Given the description of an element on the screen output the (x, y) to click on. 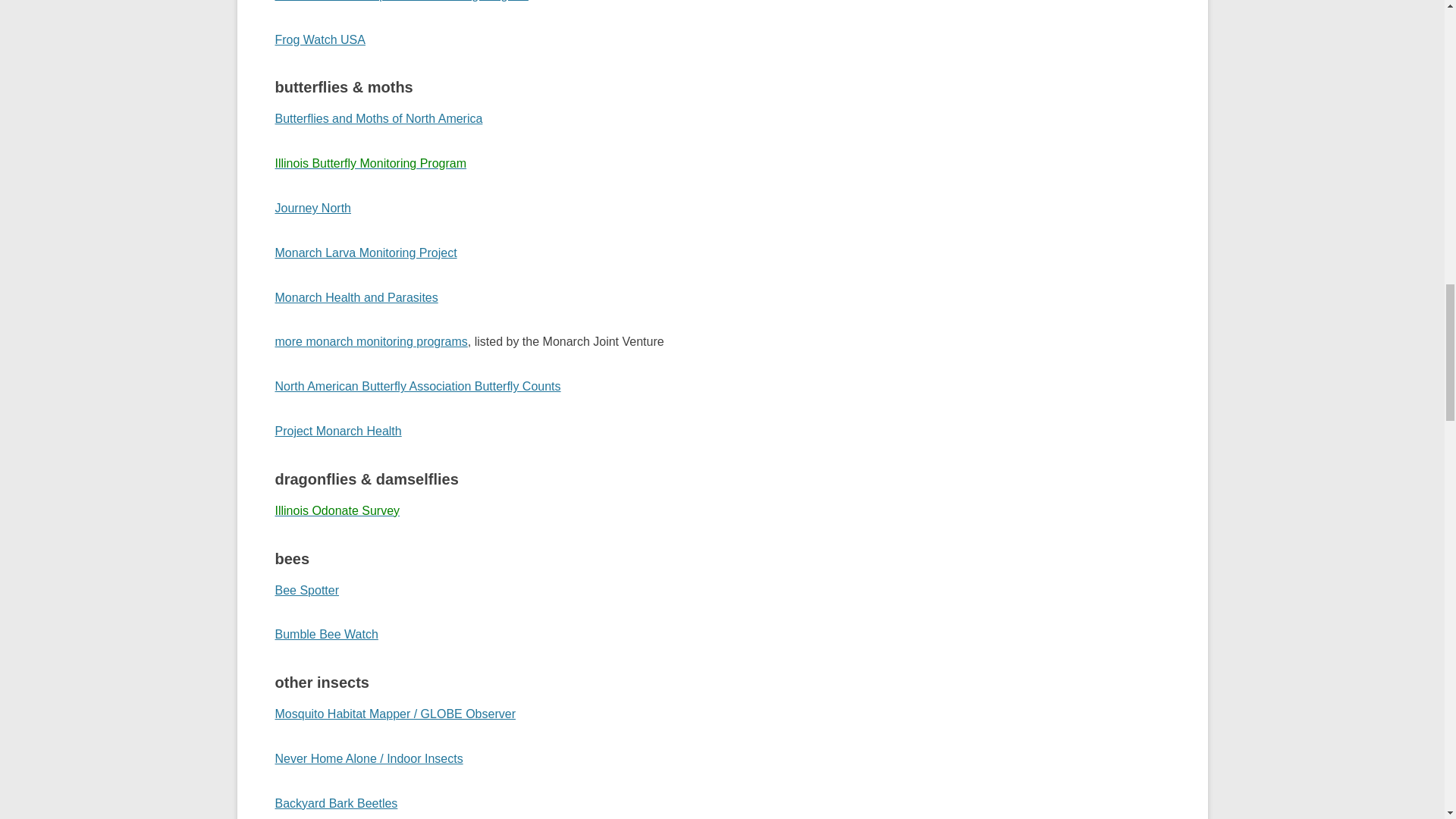
Butterflies and Moths of North America (378, 118)
Bee Spotter (307, 590)
Journey North (312, 207)
Bumble Bee Watch (326, 634)
Monarch Larva Monitoring Project (366, 252)
Monarch Health and Parasites (356, 297)
Project Monarch Health (338, 431)
more monarch monitoring programs (371, 341)
Illinois Odonate Survey (336, 510)
Frog Watch USA (320, 39)
Illinois Butterfly Monitoring Program (370, 163)
Backyard Bark Beetles (336, 802)
North American Butterfly Association Butterfly Counts (417, 386)
